Given the description of an element on the screen output the (x, y) to click on. 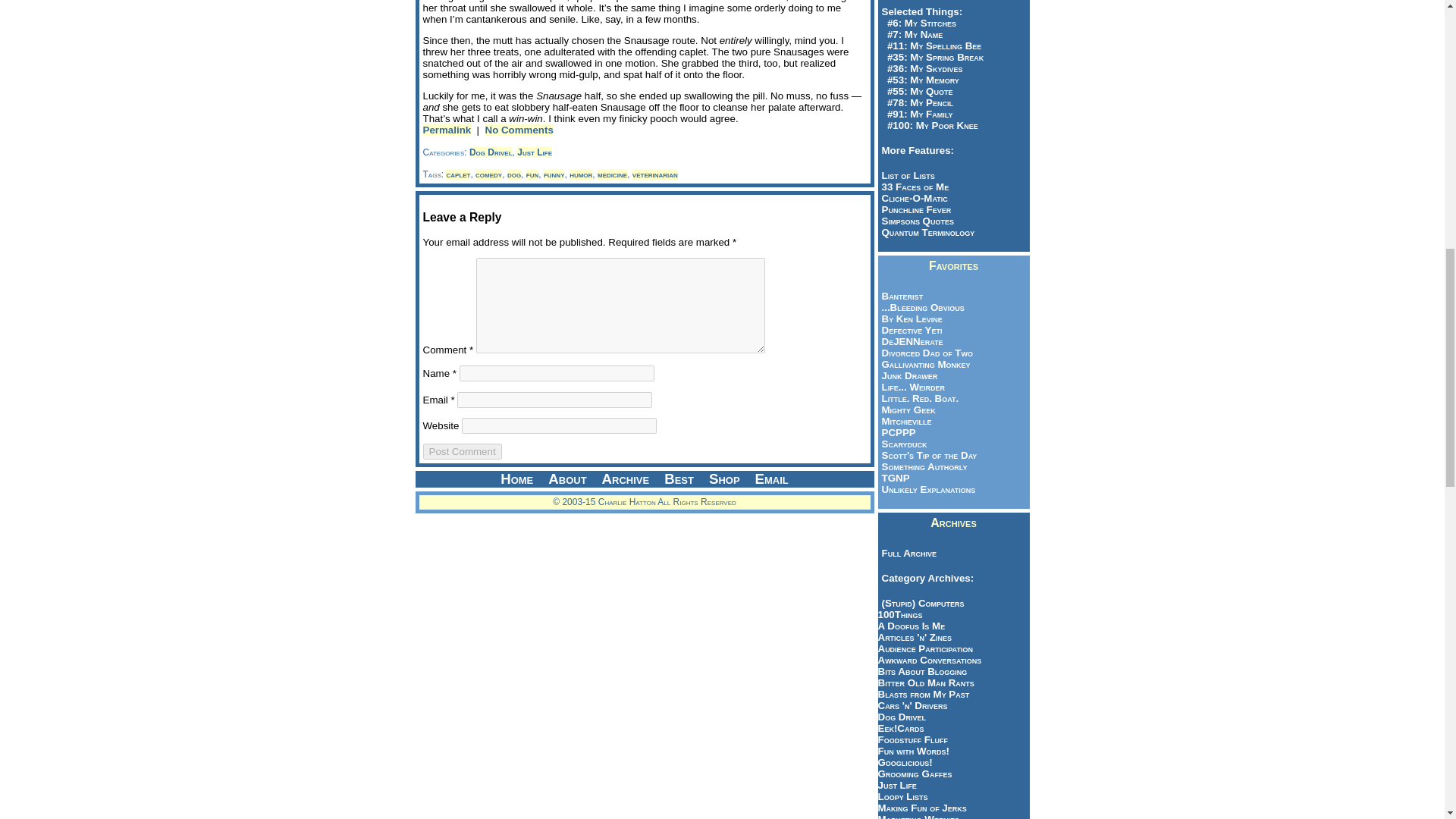
Email (772, 479)
Home (516, 479)
Archive (626, 479)
medicine (611, 173)
About (567, 479)
Post Comment (462, 451)
Permalink (447, 129)
No Comments (518, 129)
Post Comment (462, 451)
Shop (724, 479)
fun (531, 173)
Just Life (533, 152)
humor (580, 173)
Dog Drivel (490, 152)
veterinarian (654, 173)
